Given the description of an element on the screen output the (x, y) to click on. 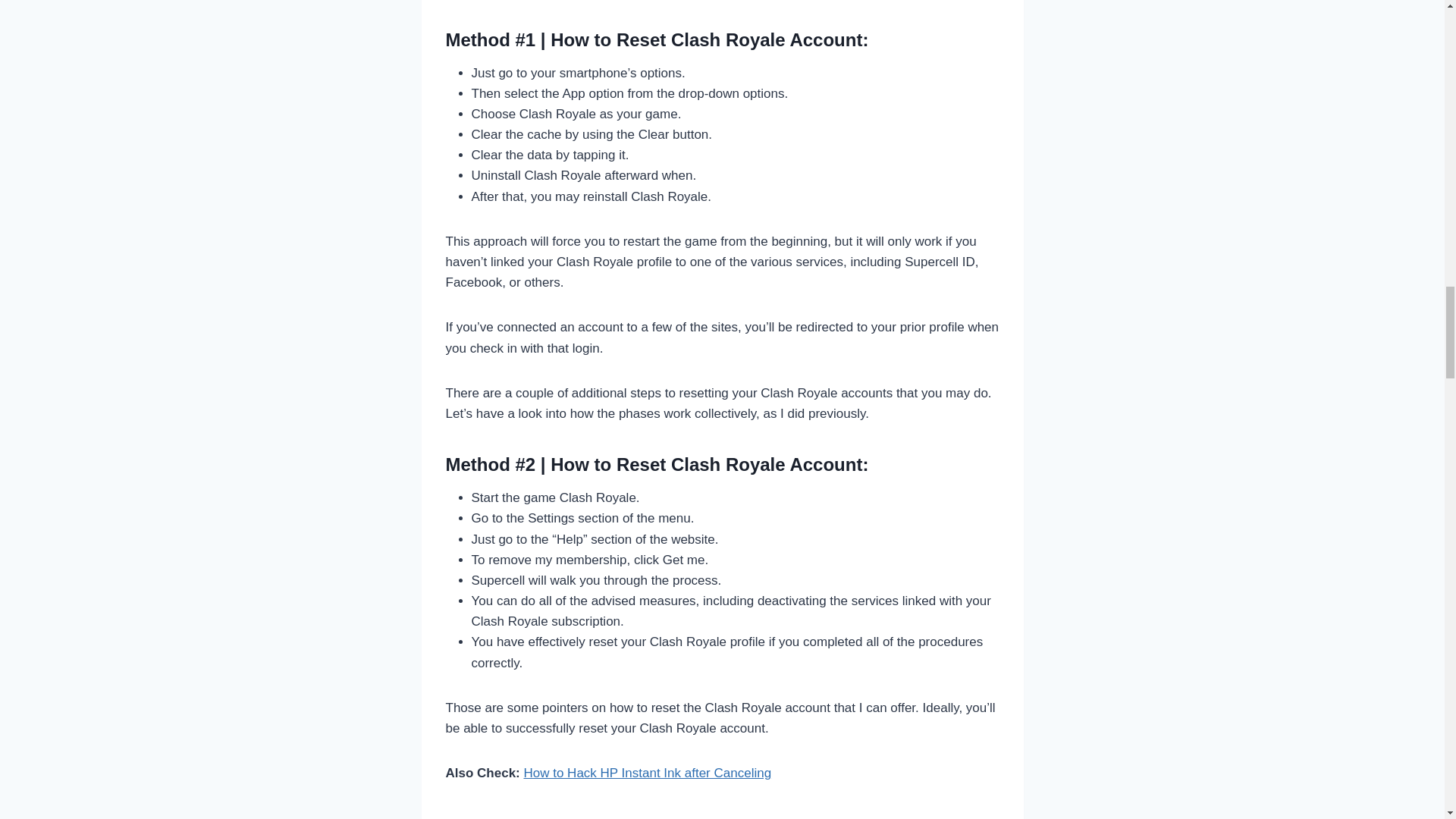
How to Hack HP Instant Ink after Canceling (646, 772)
